Given the description of an element on the screen output the (x, y) to click on. 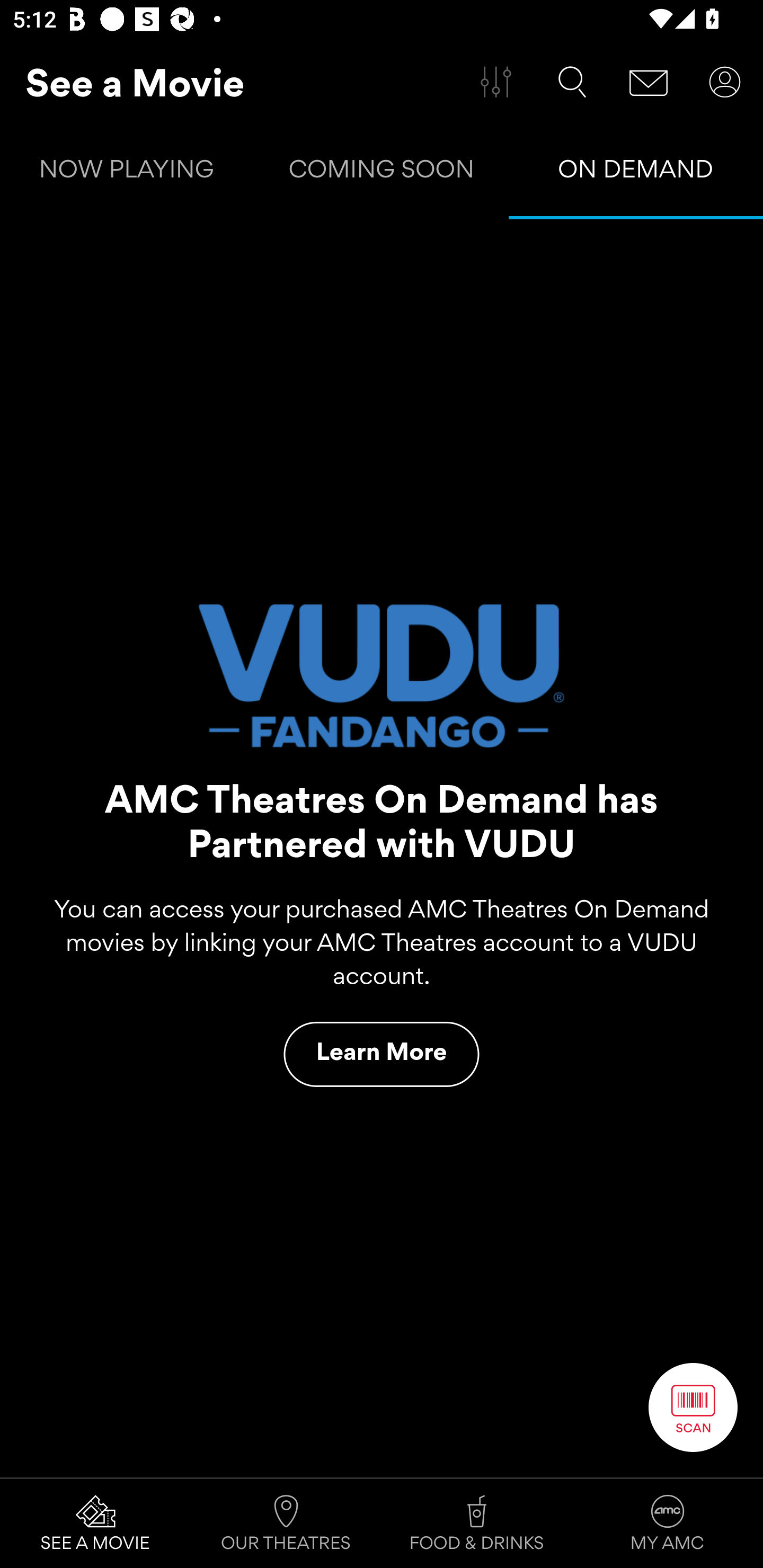
Search (572, 82)
Message Center (648, 82)
User Account (724, 82)
NOW PLAYING
Tab 1 of 3 (127, 173)
COMING SOON
Tab 2 of 3 (381, 173)
ON DEMAND
Tab 3 of 3 (635, 173)
Learn More (381, 1054)
Scan Button (692, 1406)
SEE A MOVIE
Tab 1 of 4 (95, 1523)
OUR THEATRES
Tab 2 of 4 (285, 1523)
FOOD & DRINKS
Tab 3 of 4 (476, 1523)
MY AMC
Tab 4 of 4 (667, 1523)
